Given the description of an element on the screen output the (x, y) to click on. 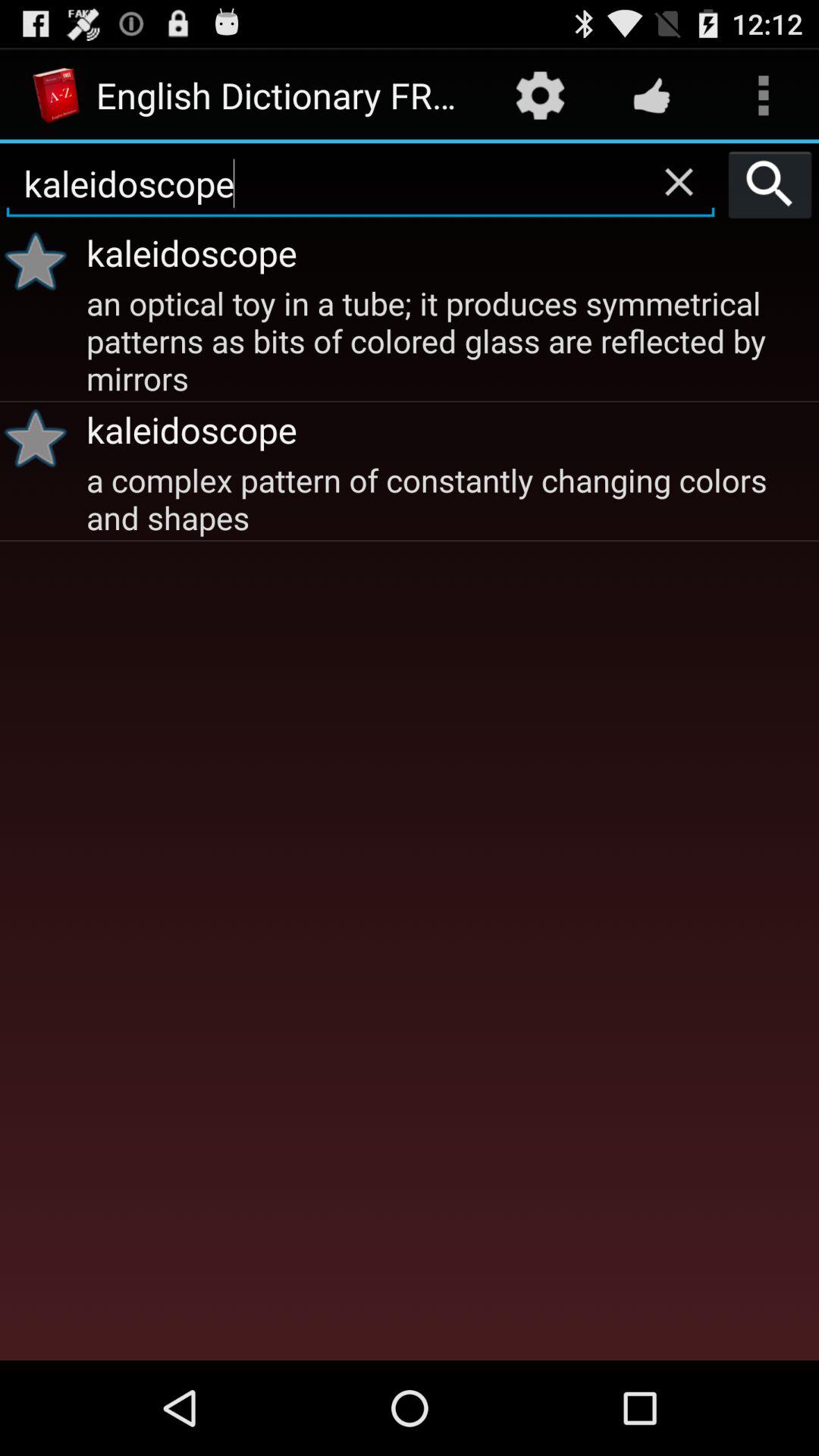
launch the item next to kaleidoscope icon (770, 184)
